Given the description of an element on the screen output the (x, y) to click on. 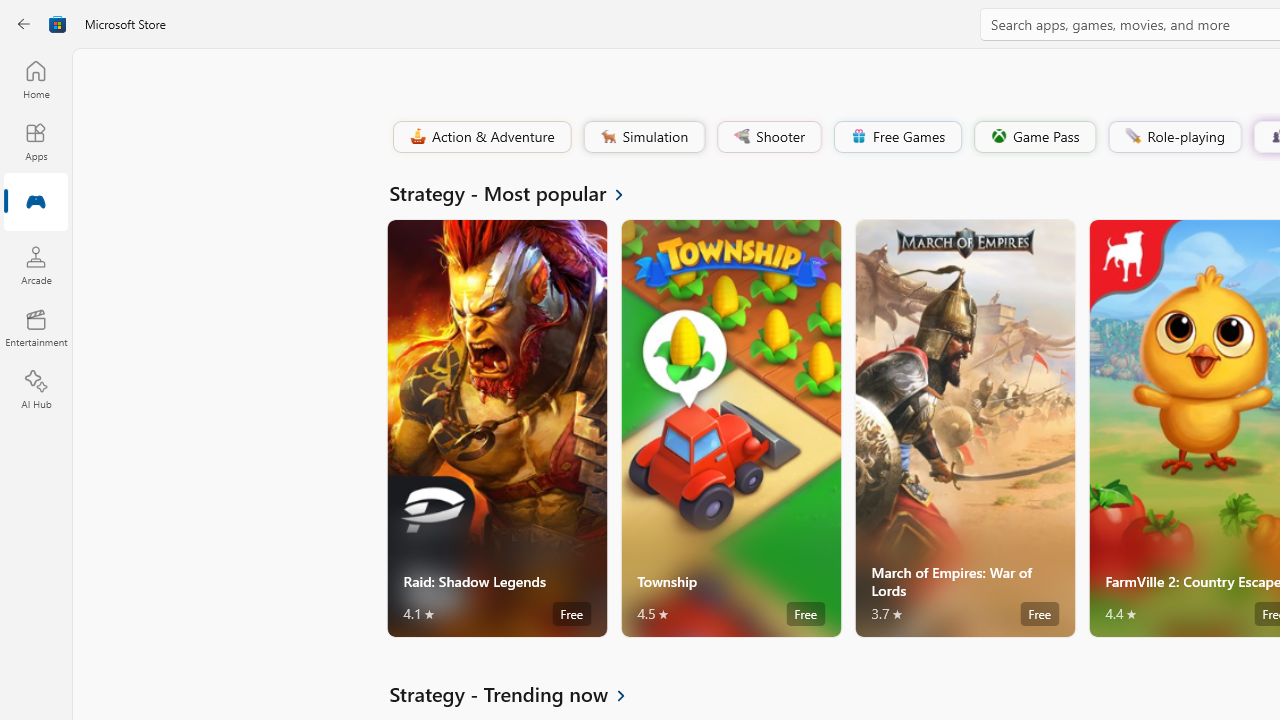
Apps (35, 141)
Simulation (643, 136)
Gaming (35, 203)
Shooter (767, 136)
